Given the description of an element on the screen output the (x, y) to click on. 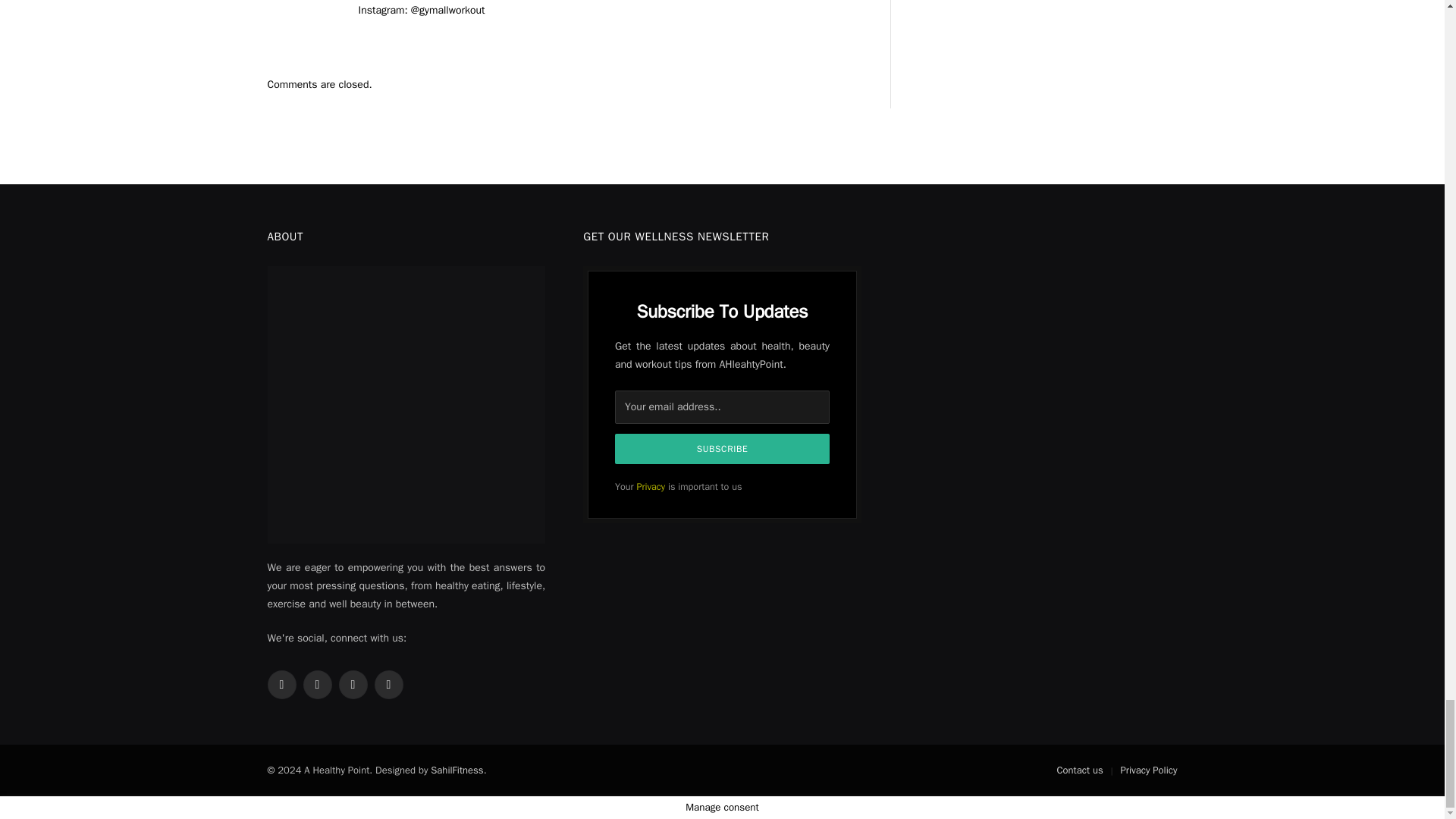
Subscribe (721, 449)
